Given the description of an element on the screen output the (x, y) to click on. 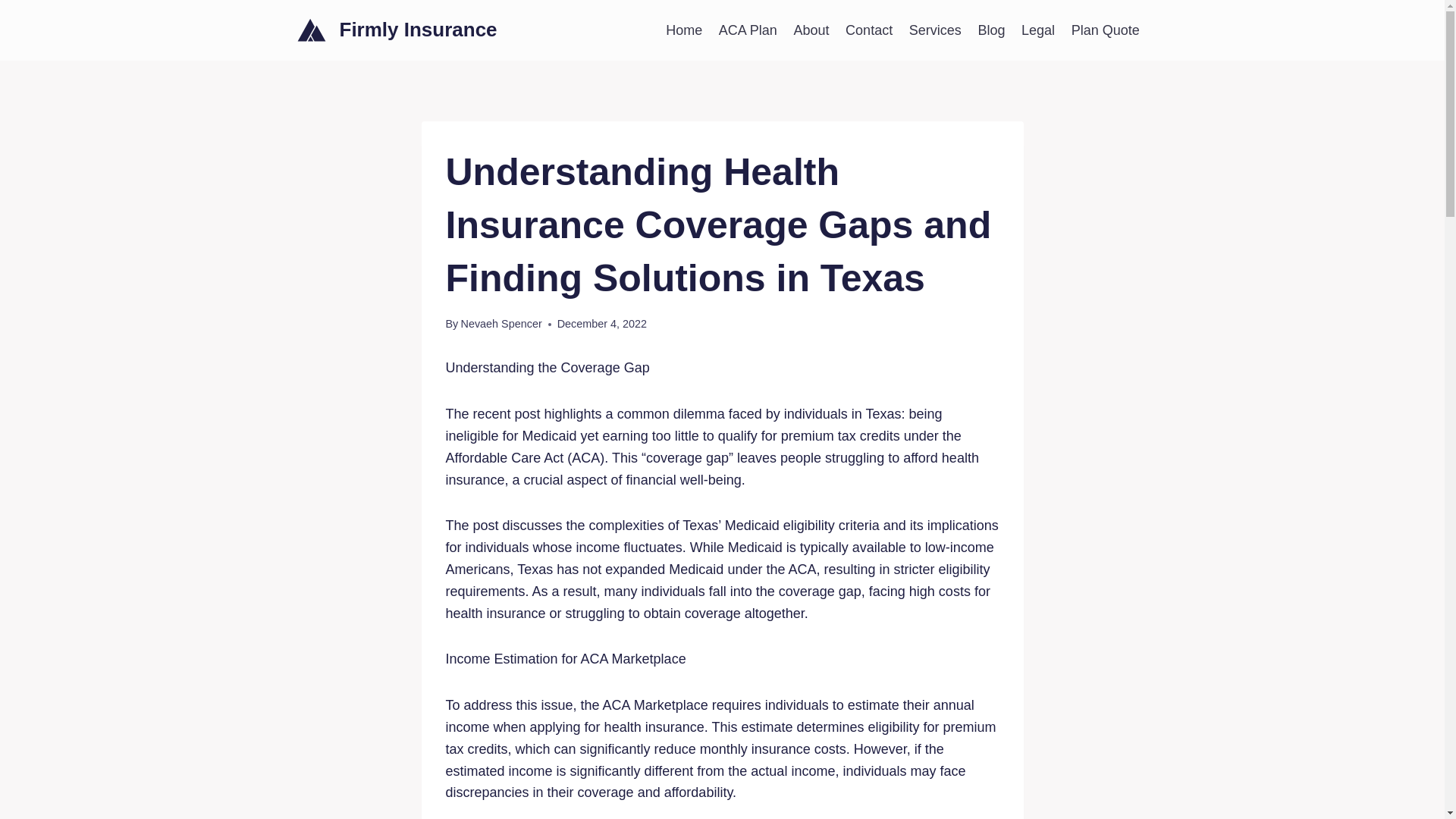
Nevaeh Spencer (500, 323)
Blog (991, 29)
Contact (869, 29)
ACA Plan (748, 29)
Services (935, 29)
About (812, 29)
Legal (1037, 29)
Home (684, 29)
Firmly Insurance (397, 29)
Plan Quote (1105, 29)
